Given the description of an element on the screen output the (x, y) to click on. 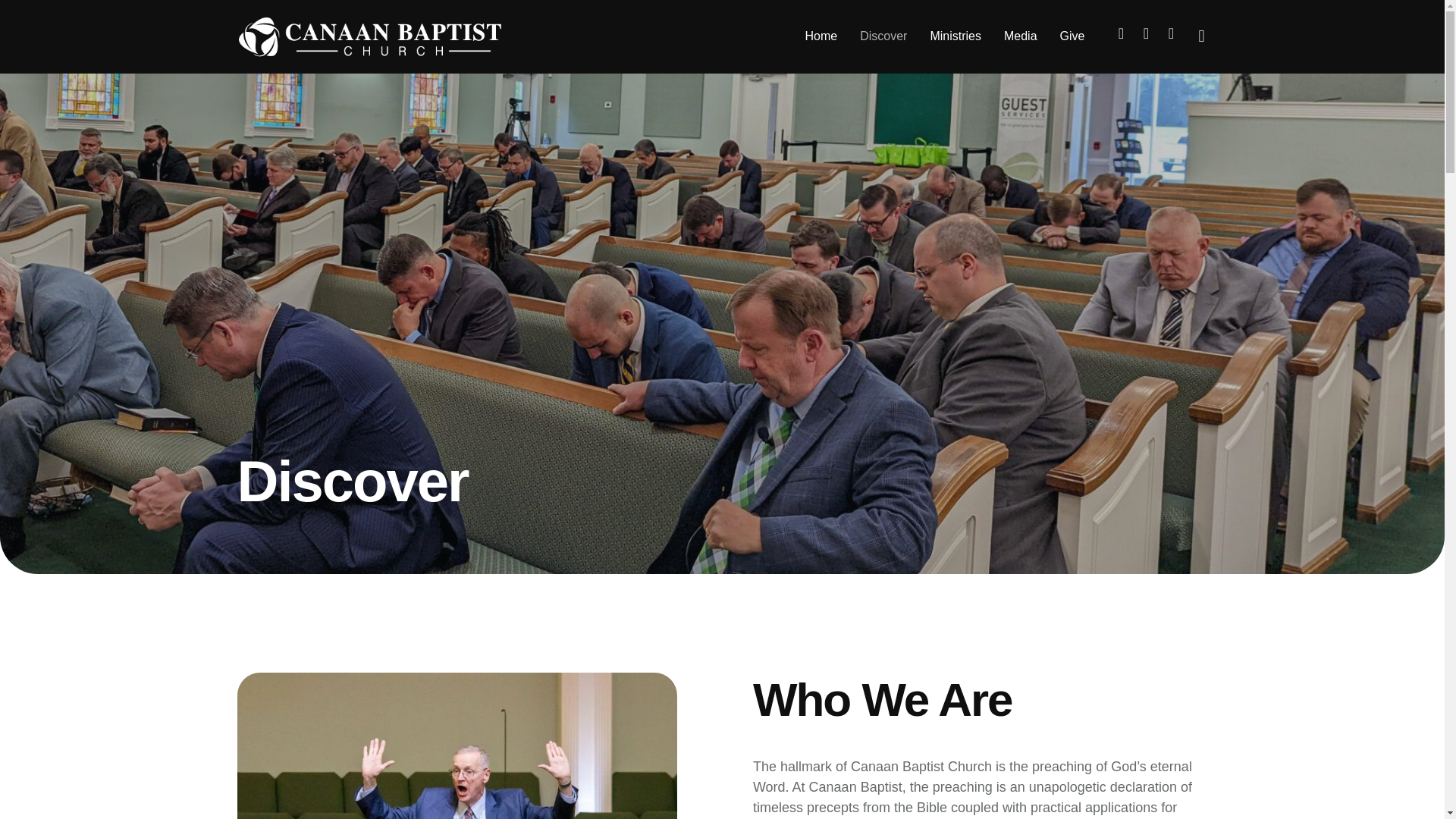
Ministries (955, 36)
Give (1071, 36)
Click here (1403, 739)
Home (821, 36)
Discover (883, 36)
Media (1020, 36)
Canaan Baptist Church (368, 36)
